Given the description of an element on the screen output the (x, y) to click on. 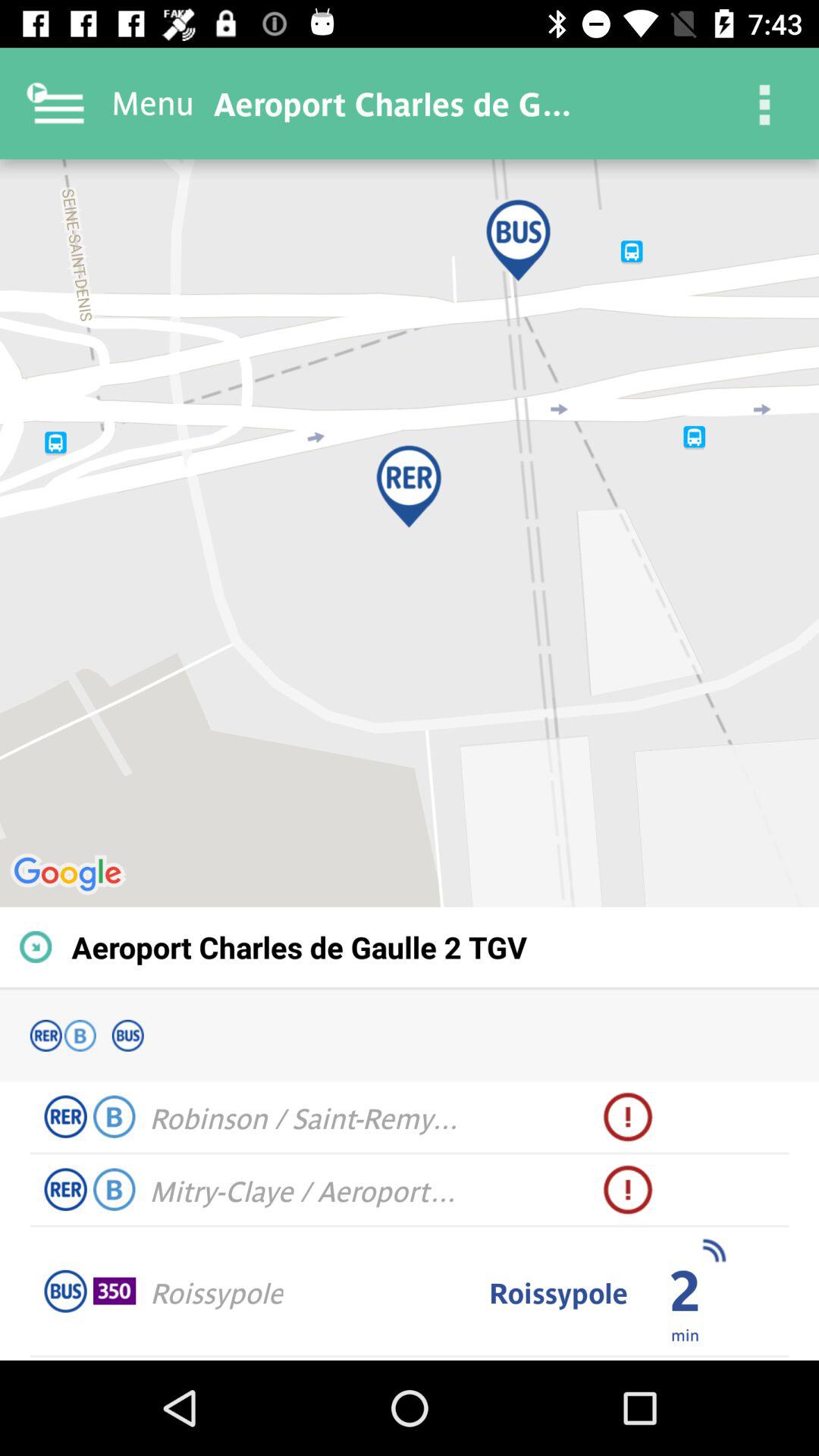
turn on the icon next to robinson saint remy icon (627, 1117)
